Given the description of an element on the screen output the (x, y) to click on. 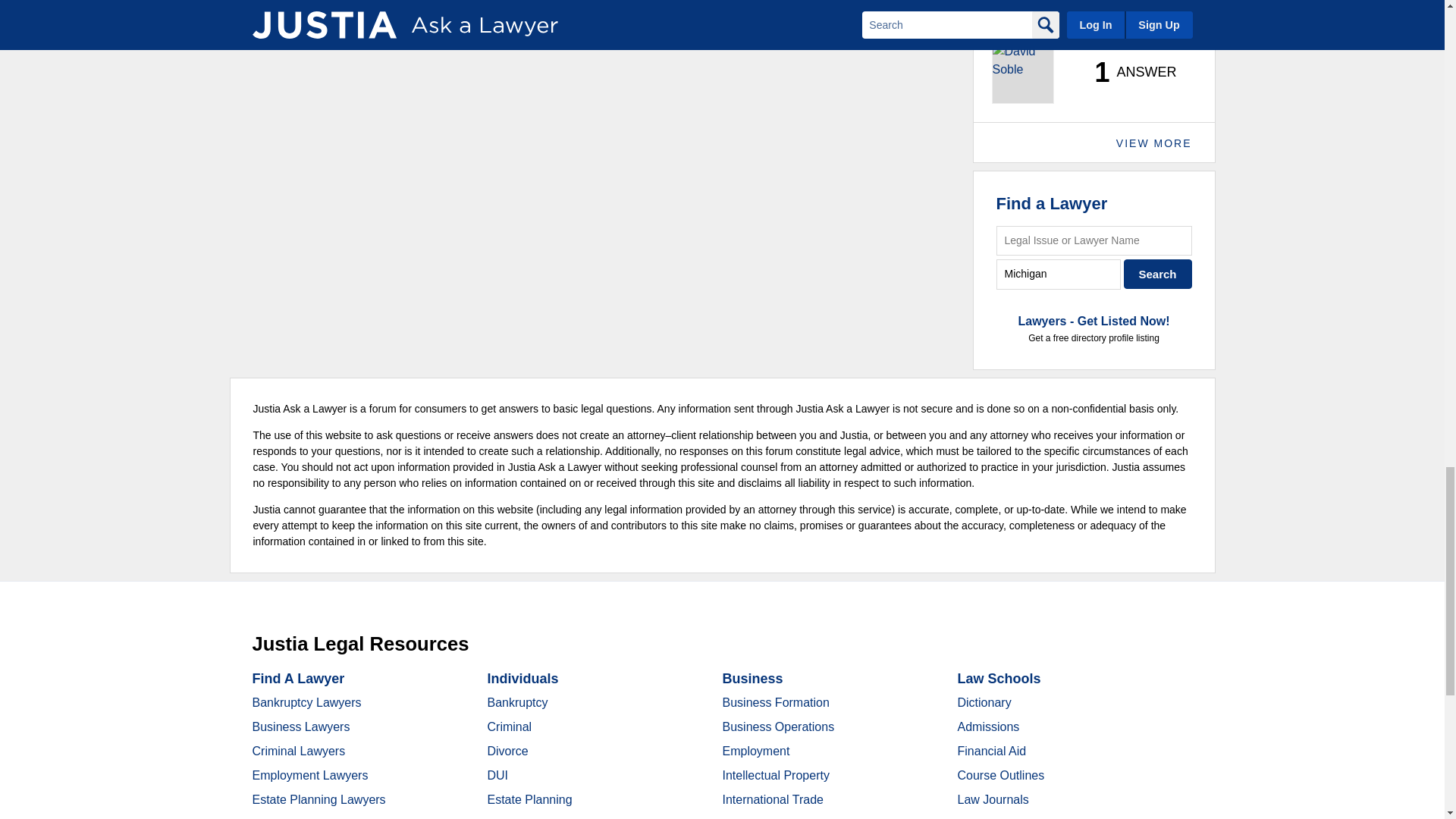
City, State (1058, 274)
Search (1158, 274)
Ask a Lawyer - Leaderboard - Lawyer Stats (1127, 72)
Search (1158, 274)
Michigan (1058, 274)
Ask a Lawyer - Leaderboard - Lawyer Name (1032, 24)
Legal Issue or Lawyer Name (1093, 240)
Ask a Lawyer - Leaderboard - Lawyer Photo (1021, 72)
